Given the description of an element on the screen output the (x, y) to click on. 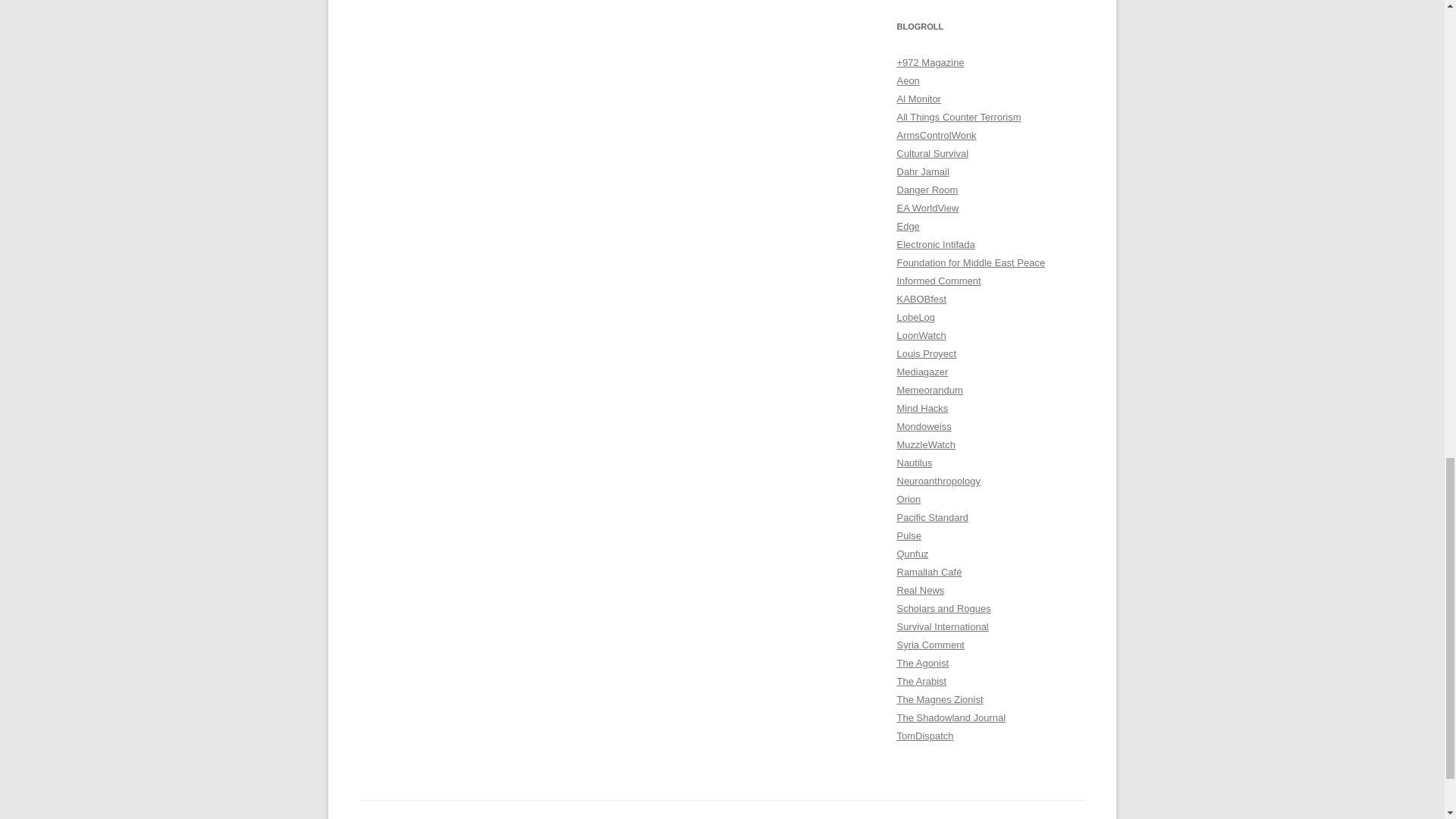
Dahr Jamail (922, 171)
Jim Lobe and friends on foreign policy (915, 317)
Edge (907, 225)
Cultural Survival (932, 153)
ArmsControlWonk (935, 134)
EA WorldView (927, 207)
Al Monitor (918, 98)
Aeon (907, 80)
Electronic Intifada (935, 244)
